Given the description of an element on the screen output the (x, y) to click on. 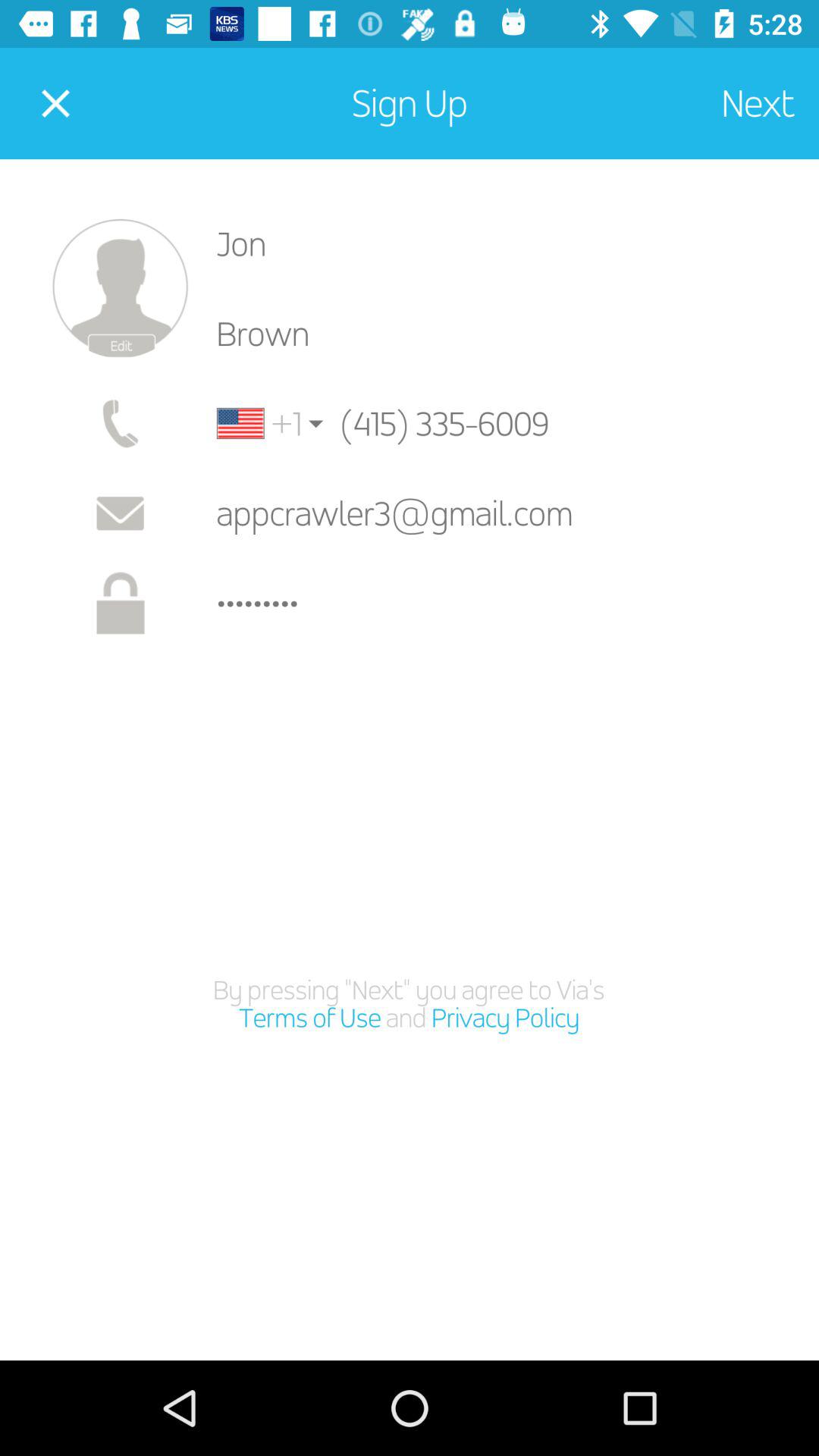
jump to the by pressing next icon (409, 1003)
